Given the description of an element on the screen output the (x, y) to click on. 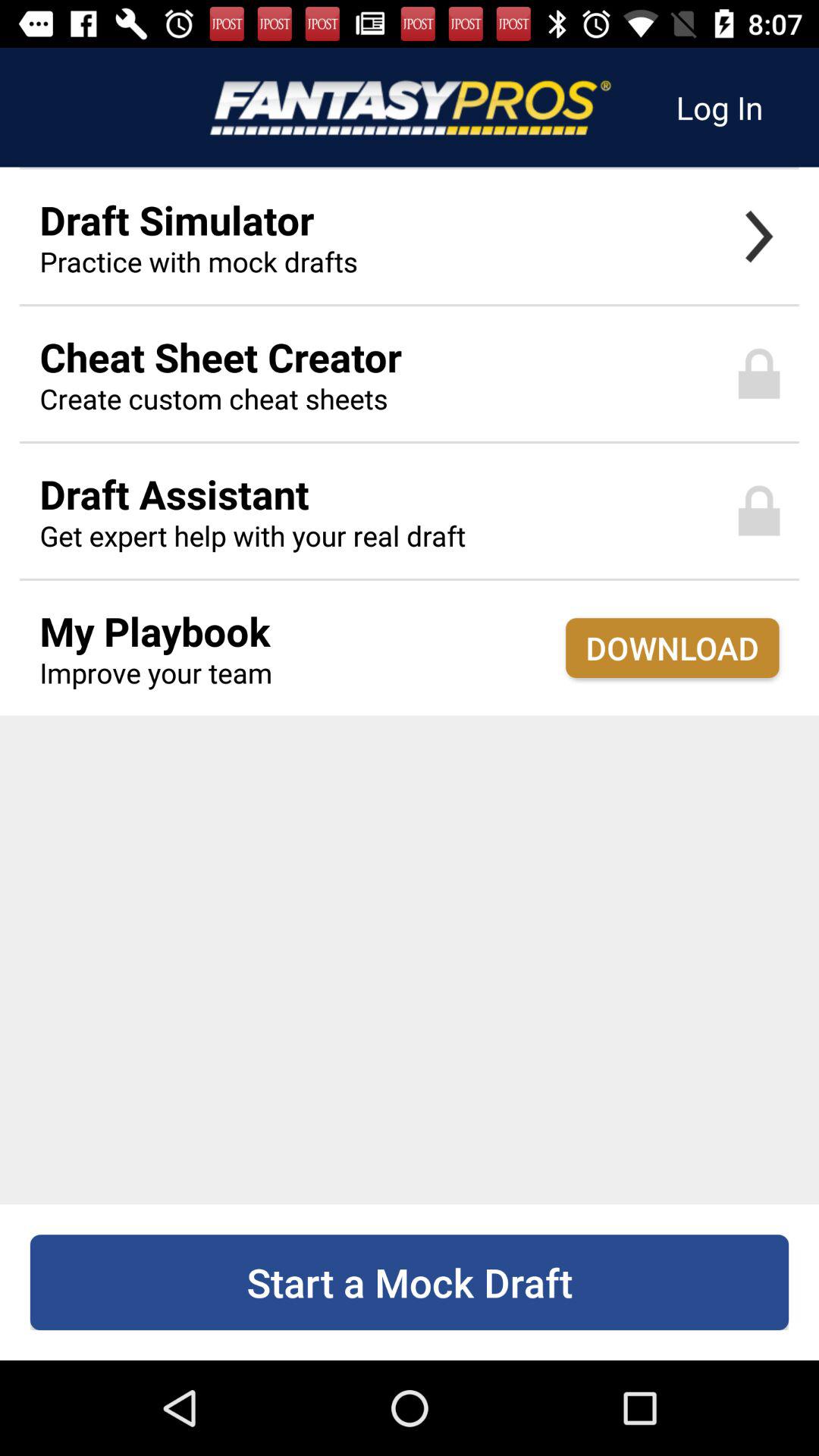
turn on download button (672, 647)
